Given the description of an element on the screen output the (x, y) to click on. 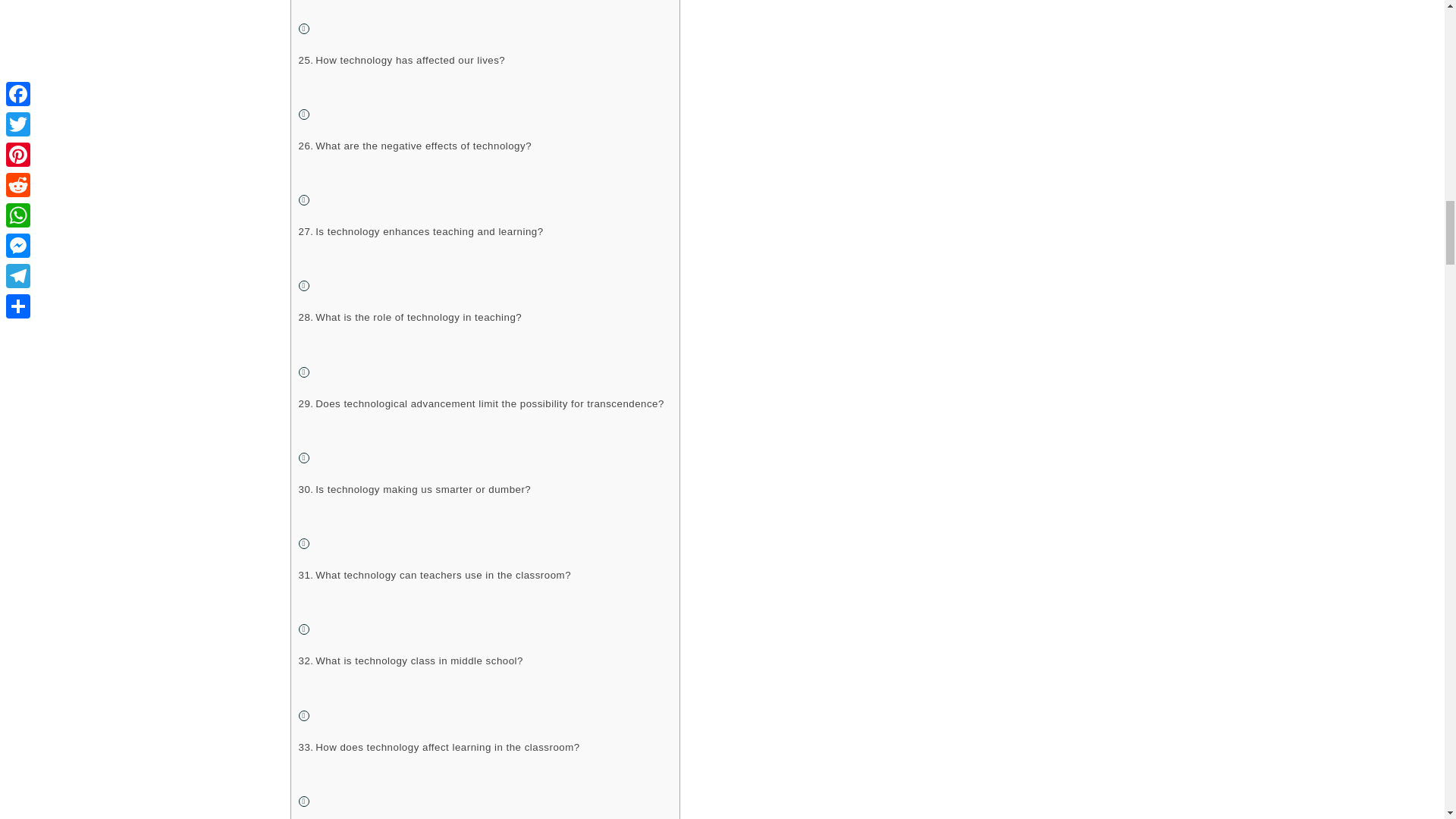
What is the role of technology in teaching? (410, 317)
How technology has affected our lives? (401, 59)
What are the negative effects of technology? (415, 145)
Is technology enhances teaching and learning? (420, 231)
